Given the description of an element on the screen output the (x, y) to click on. 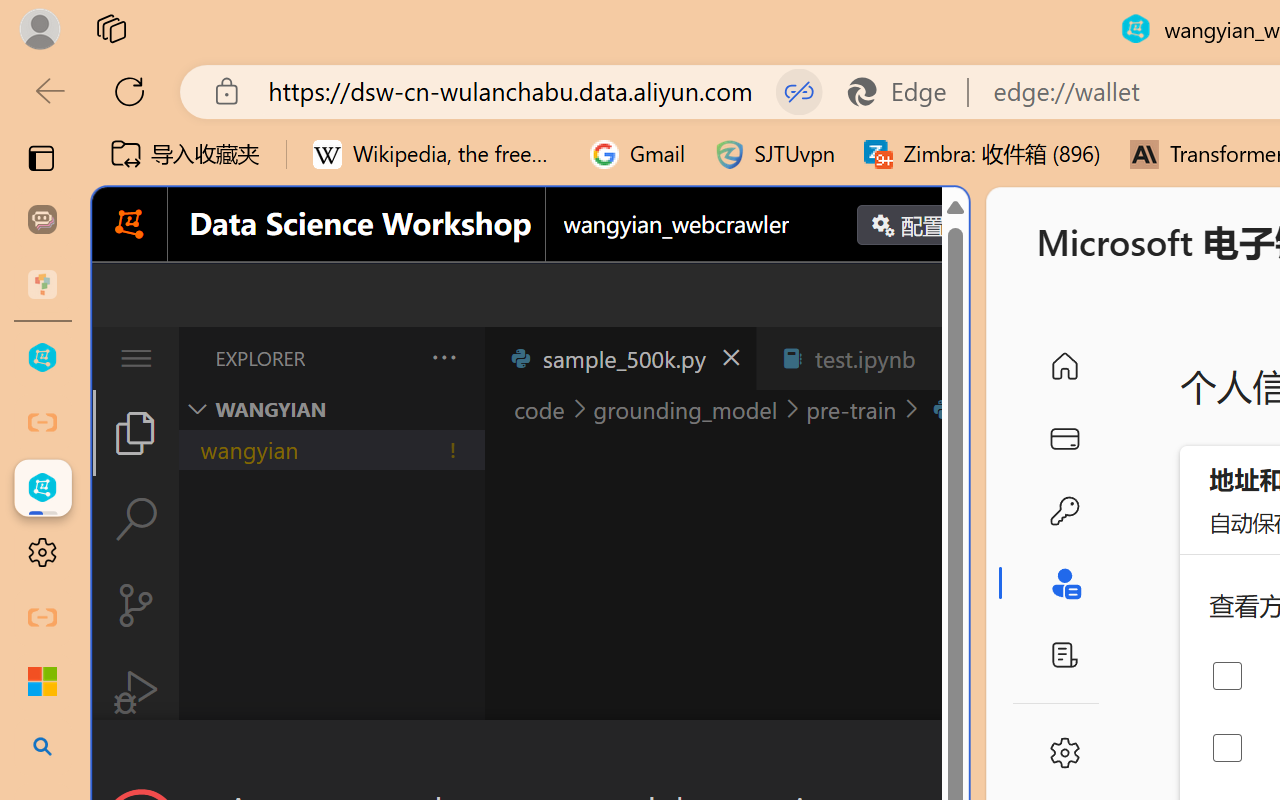
Views and More Actions... (442, 357)
Close (Ctrl+F4) (946, 358)
Close Dialog (959, 756)
Gmail (637, 154)
